Given the description of an element on the screen output the (x, y) to click on. 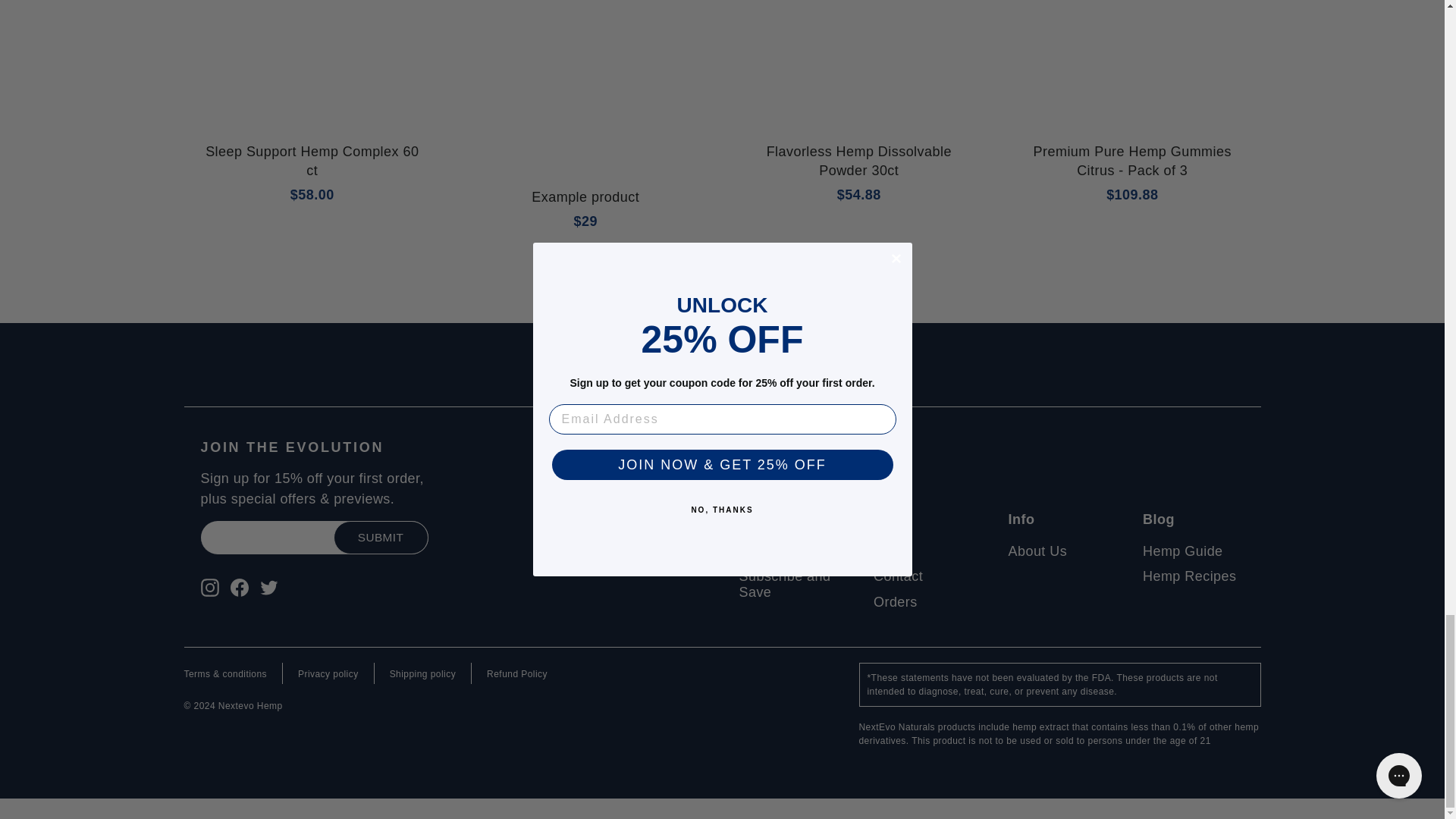
Nextevo Hemp on Twitter (268, 587)
Nextevo Hemp on Facebook (239, 587)
Nextevo Hemp on Instagram (209, 587)
